Given the description of an element on the screen output the (x, y) to click on. 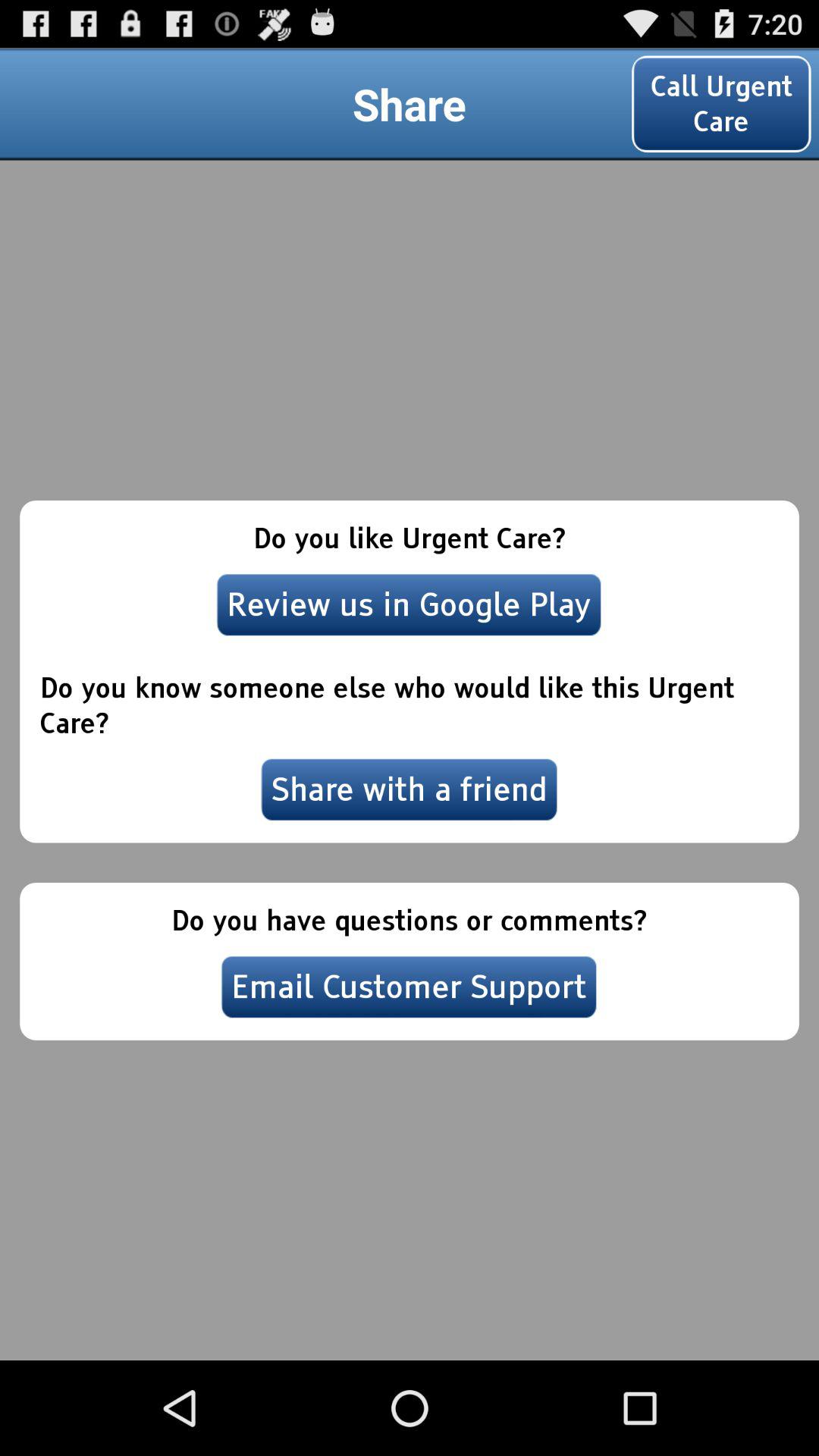
choose item below the do you know icon (409, 789)
